Given the description of an element on the screen output the (x, y) to click on. 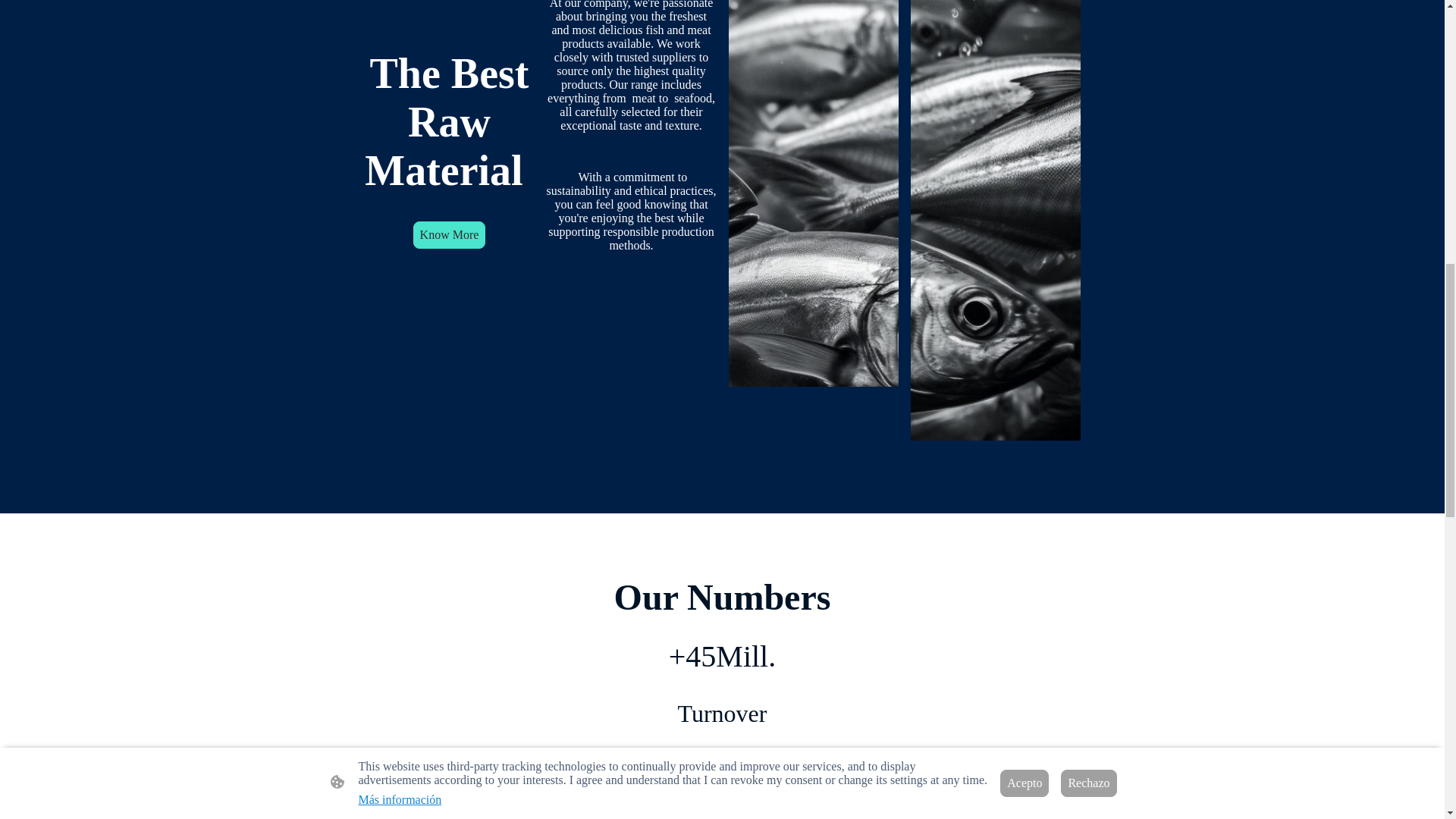
Know More (449, 234)
